Given the description of an element on the screen output the (x, y) to click on. 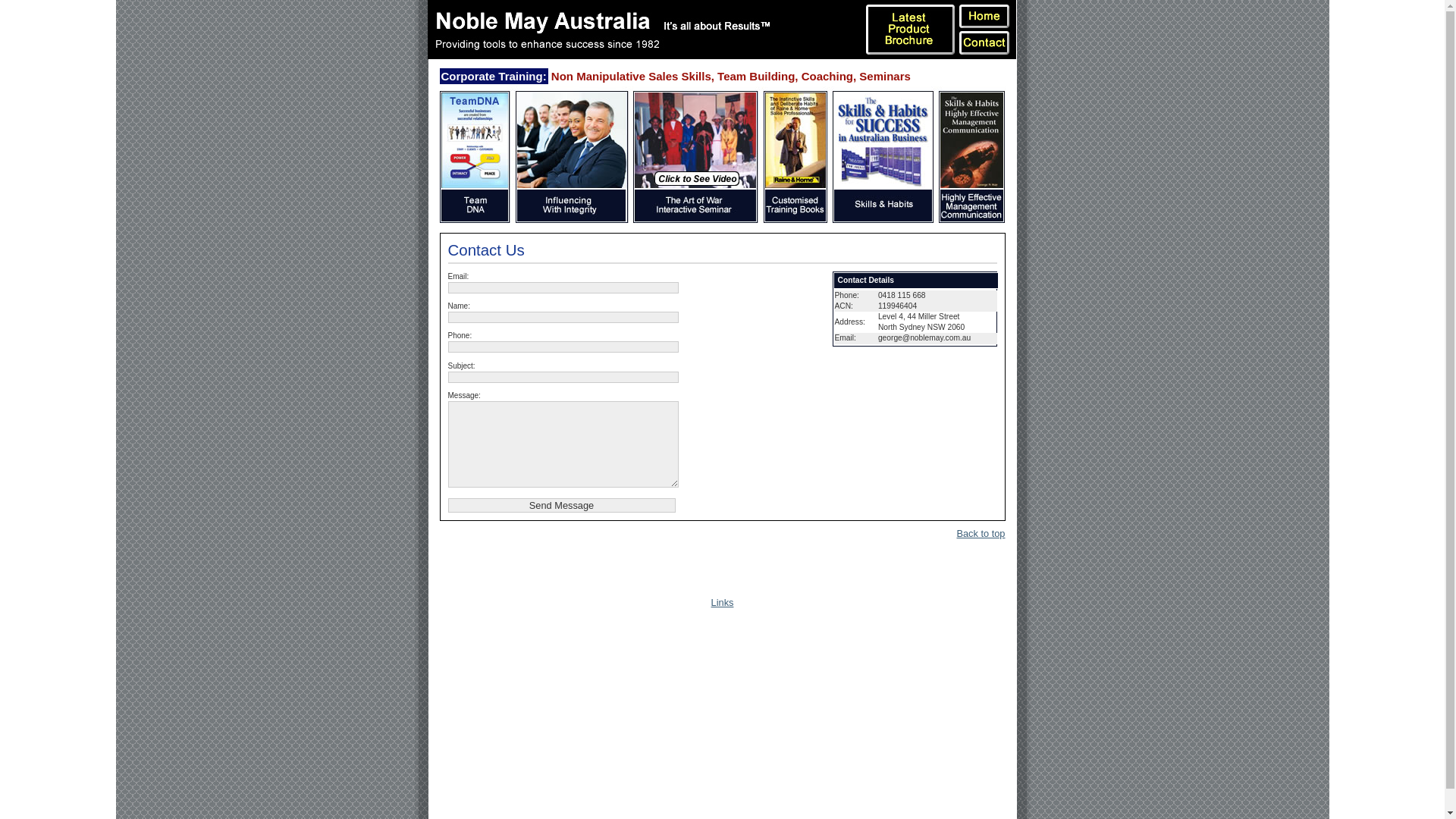
Links Element type: text (722, 602)
Send Message Element type: text (560, 505)
Back to top Element type: text (980, 533)
